Given the description of an element on the screen output the (x, y) to click on. 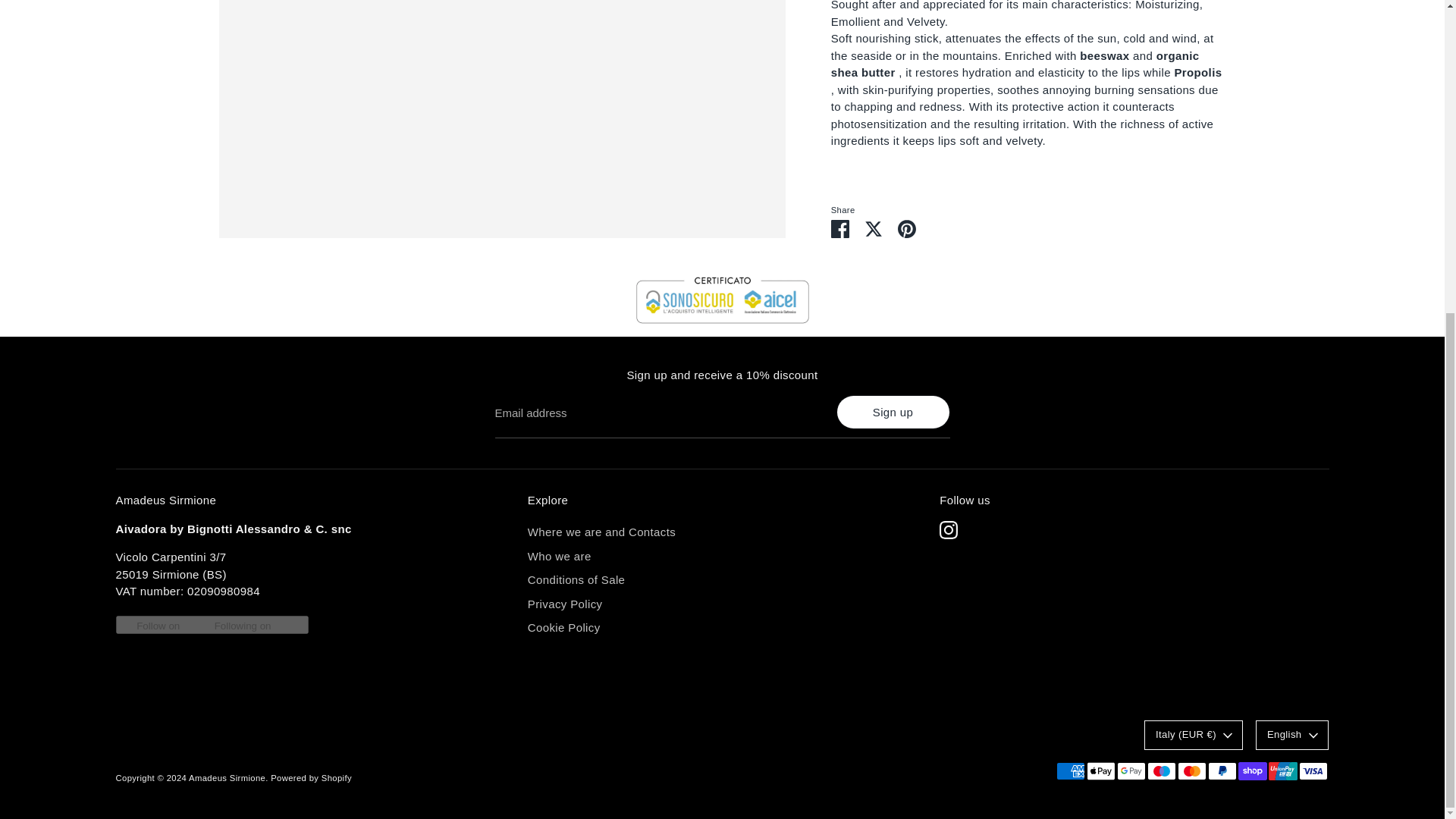
American Express (1069, 771)
